Given the description of an element on the screen output the (x, y) to click on. 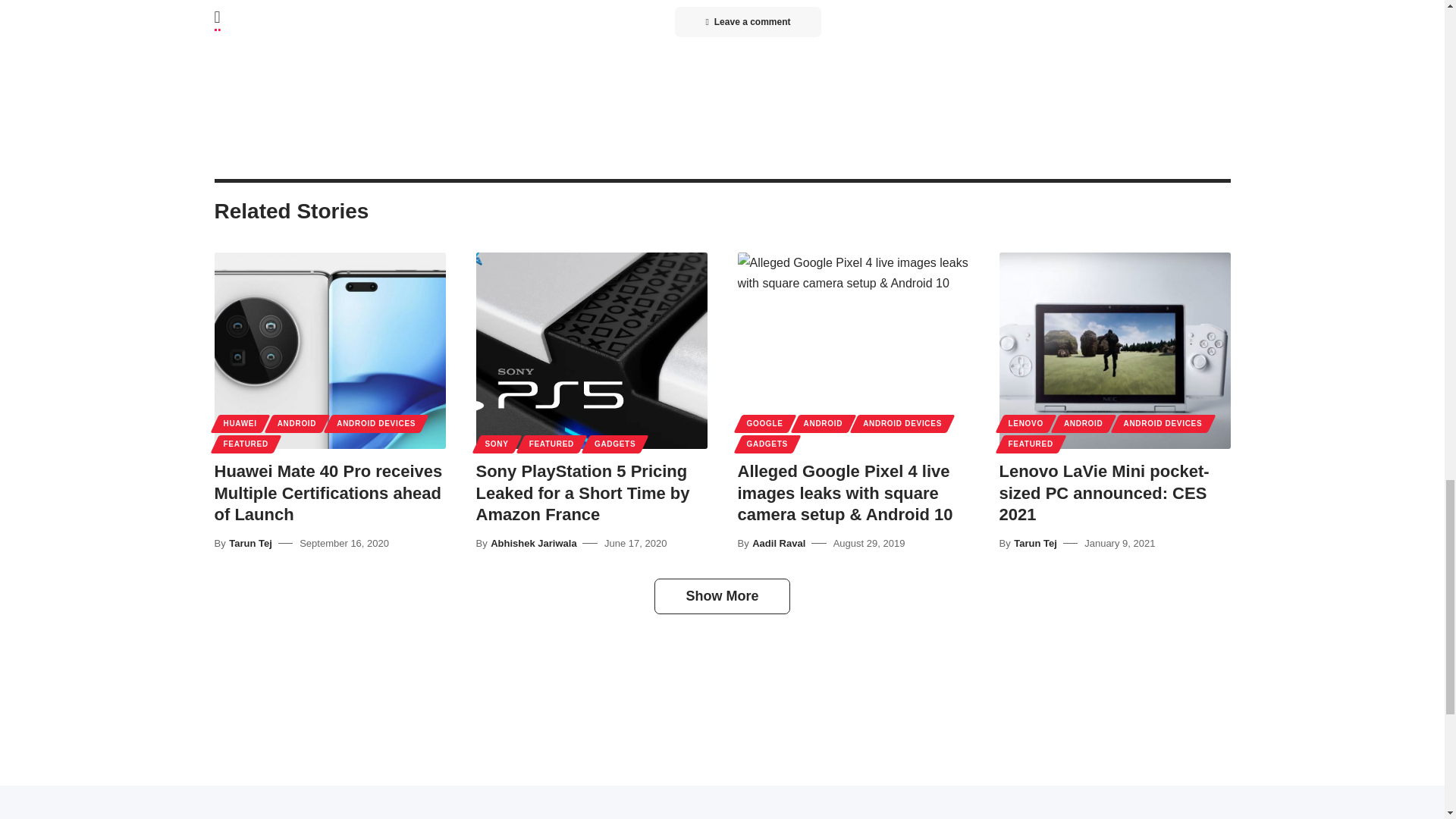
Lenovo LaVie Mini pocket-sized PC announced: CES 2021 (1114, 350)
